Given the description of an element on the screen output the (x, y) to click on. 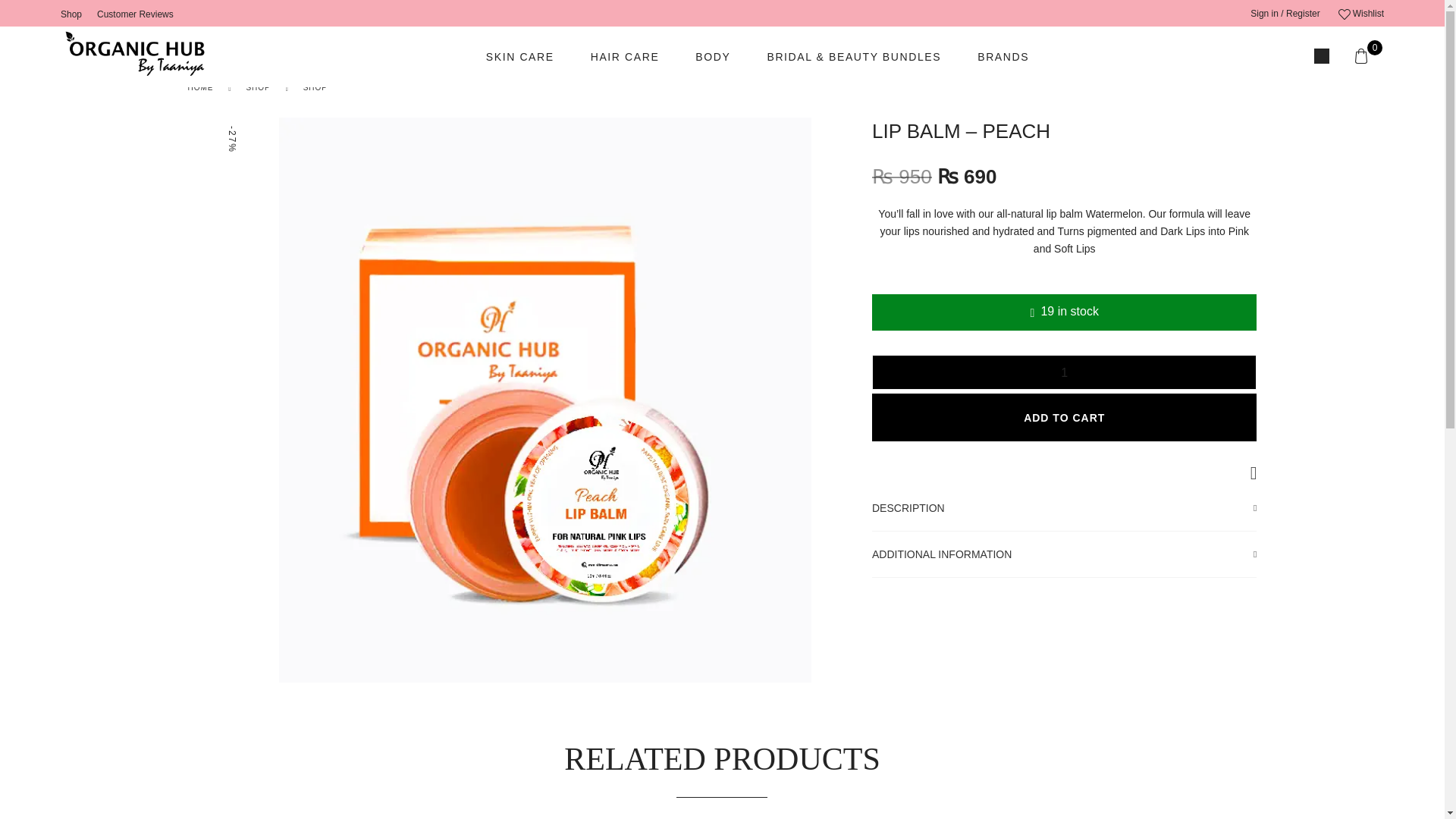
Customer Reviews (135, 14)
HAIR CARE (625, 56)
1 (1064, 372)
ORGANIC HUB BY TAANIYA (137, 56)
Wishlist (1361, 14)
Shop (71, 14)
SKIN CARE (520, 56)
